Given the description of an element on the screen output the (x, y) to click on. 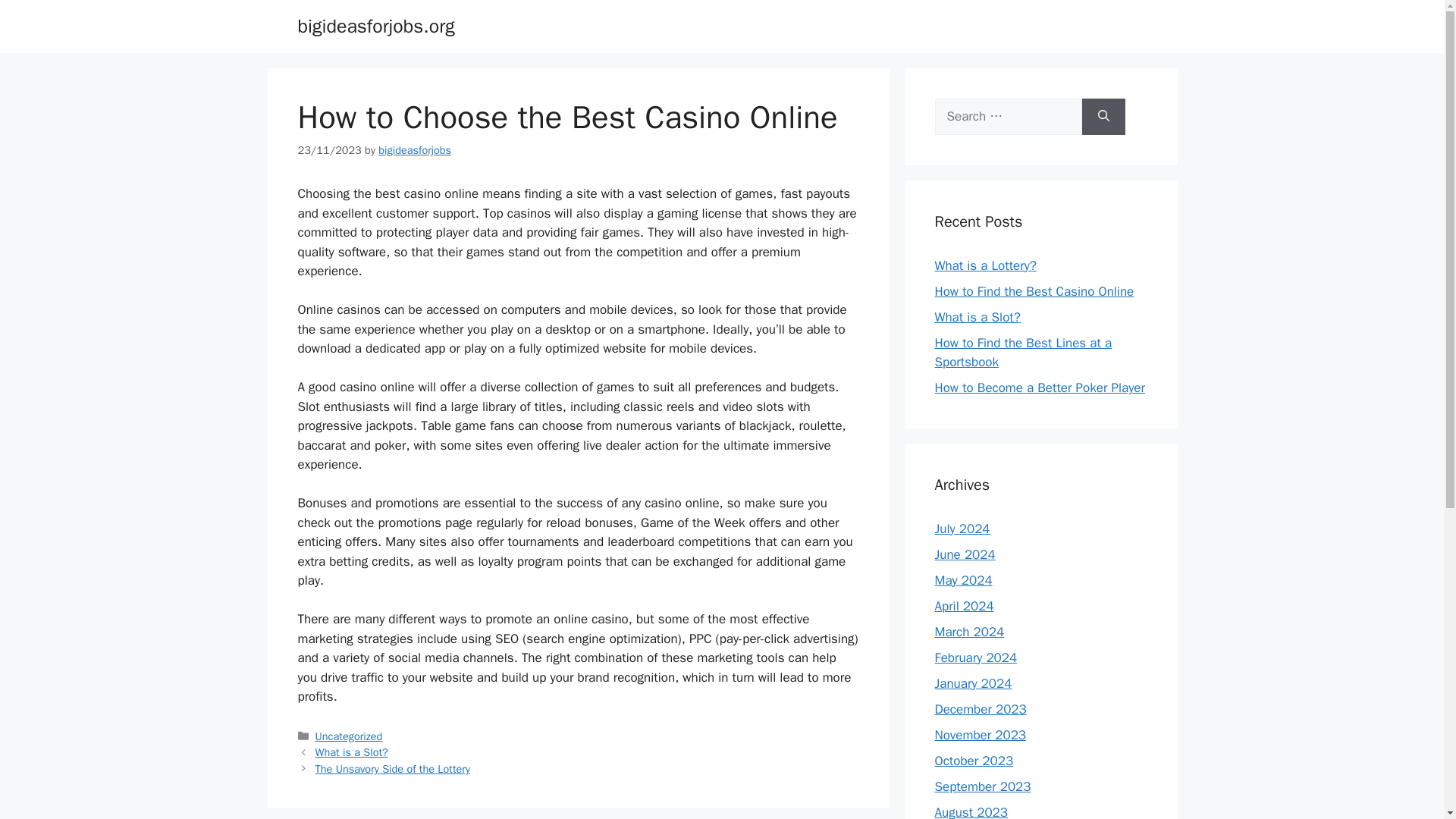
Search for: (1007, 116)
Uncategorized (348, 735)
How to Become a Better Poker Player (1039, 387)
What is a Slot? (351, 752)
June 2024 (964, 553)
bigideasforjobs.org (375, 25)
November 2023 (980, 734)
January 2024 (972, 682)
October 2023 (973, 760)
April 2024 (963, 605)
View all posts by bigideasforjobs (414, 150)
What is a Slot? (977, 317)
bigideasforjobs (414, 150)
How to Find the Best Lines at a Sportsbook (1023, 352)
How to Find the Best Casino Online (1034, 291)
